Given the description of an element on the screen output the (x, y) to click on. 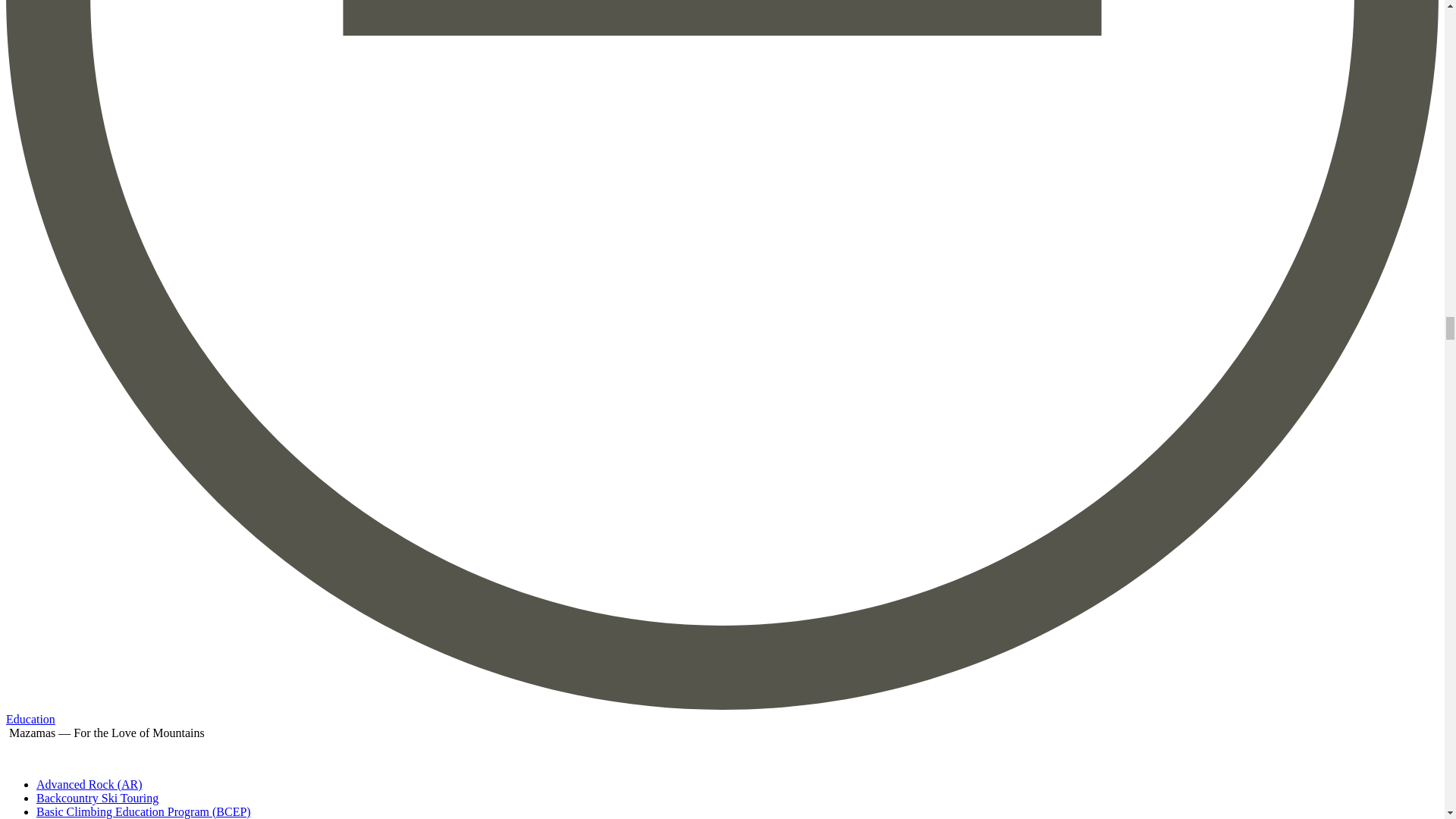
Backcountry Ski Touring (97, 797)
